Given the description of an element on the screen output the (x, y) to click on. 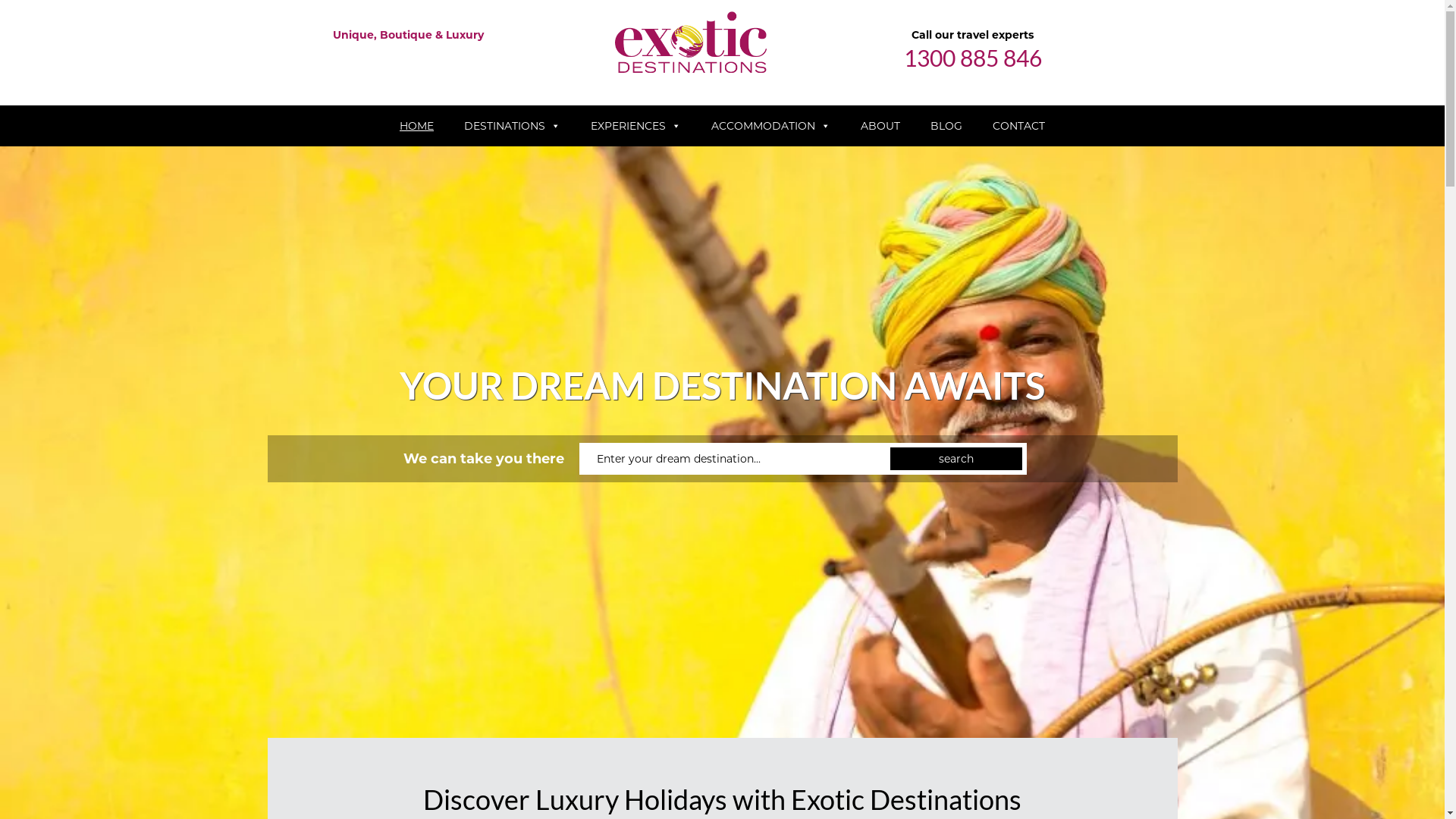
EXPERIENCES Element type: text (635, 125)
1300 885 846 Element type: text (972, 57)
CONTACT Element type: text (1018, 125)
ACCOMMODATION Element type: text (770, 125)
SEARCH Element type: text (955, 458)
BLOG Element type: text (946, 125)
HOME Element type: text (416, 125)
DESTINATIONS Element type: text (511, 125)
ABOUT Element type: text (880, 125)
